Given the description of an element on the screen output the (x, y) to click on. 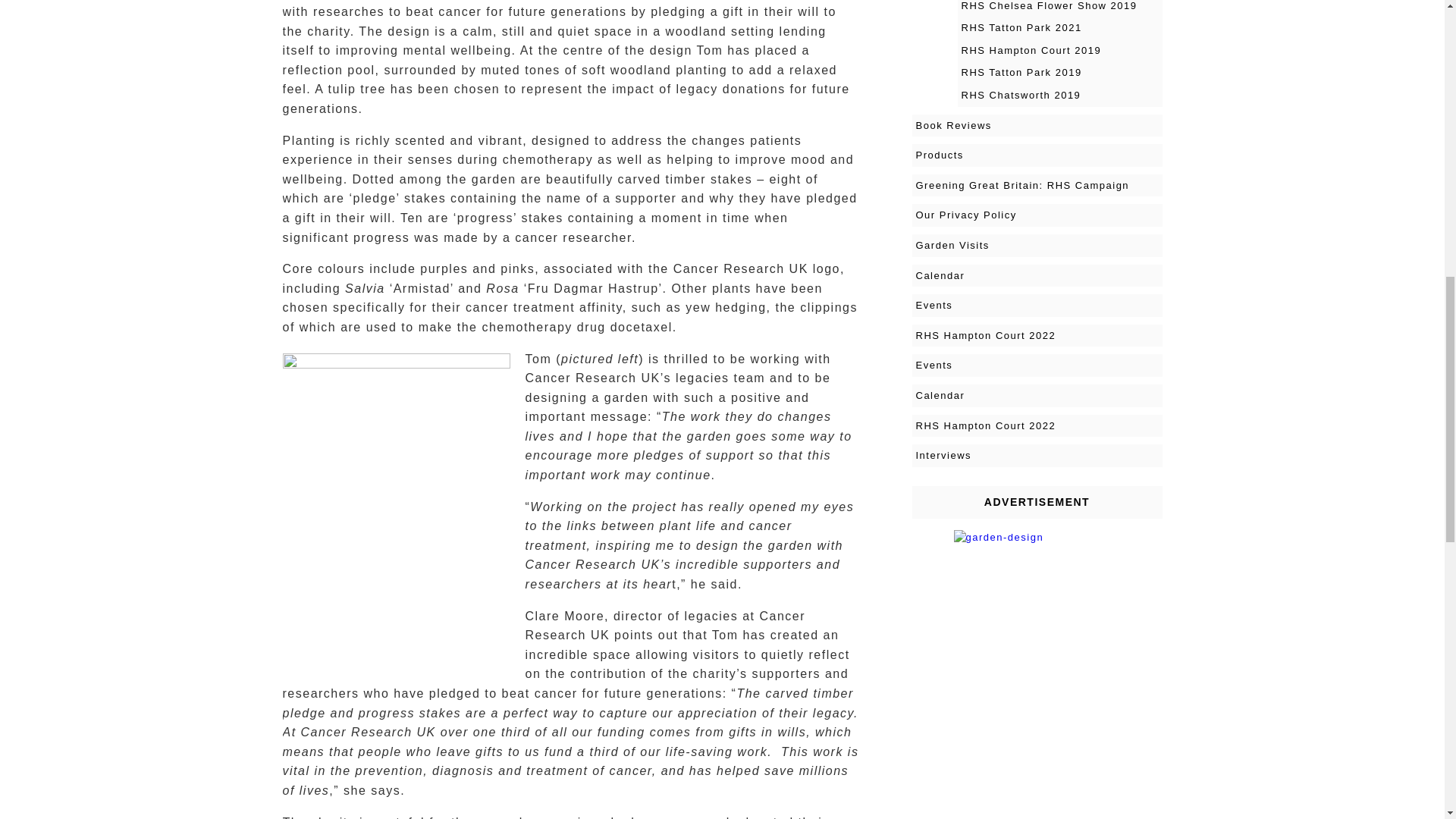
RHS Chatsworth 2019 (1058, 95)
RHS Hampton Court 2019 (1058, 50)
Products (1036, 155)
Greening Great Britain: RHS Campaign (1036, 185)
RHS Tatton Park 2019 (1058, 72)
Book Reviews (1036, 125)
RHS Chelsea Flower Show 2019 (1058, 8)
RHS Tatton Park 2021 (1058, 27)
